Given the description of an element on the screen output the (x, y) to click on. 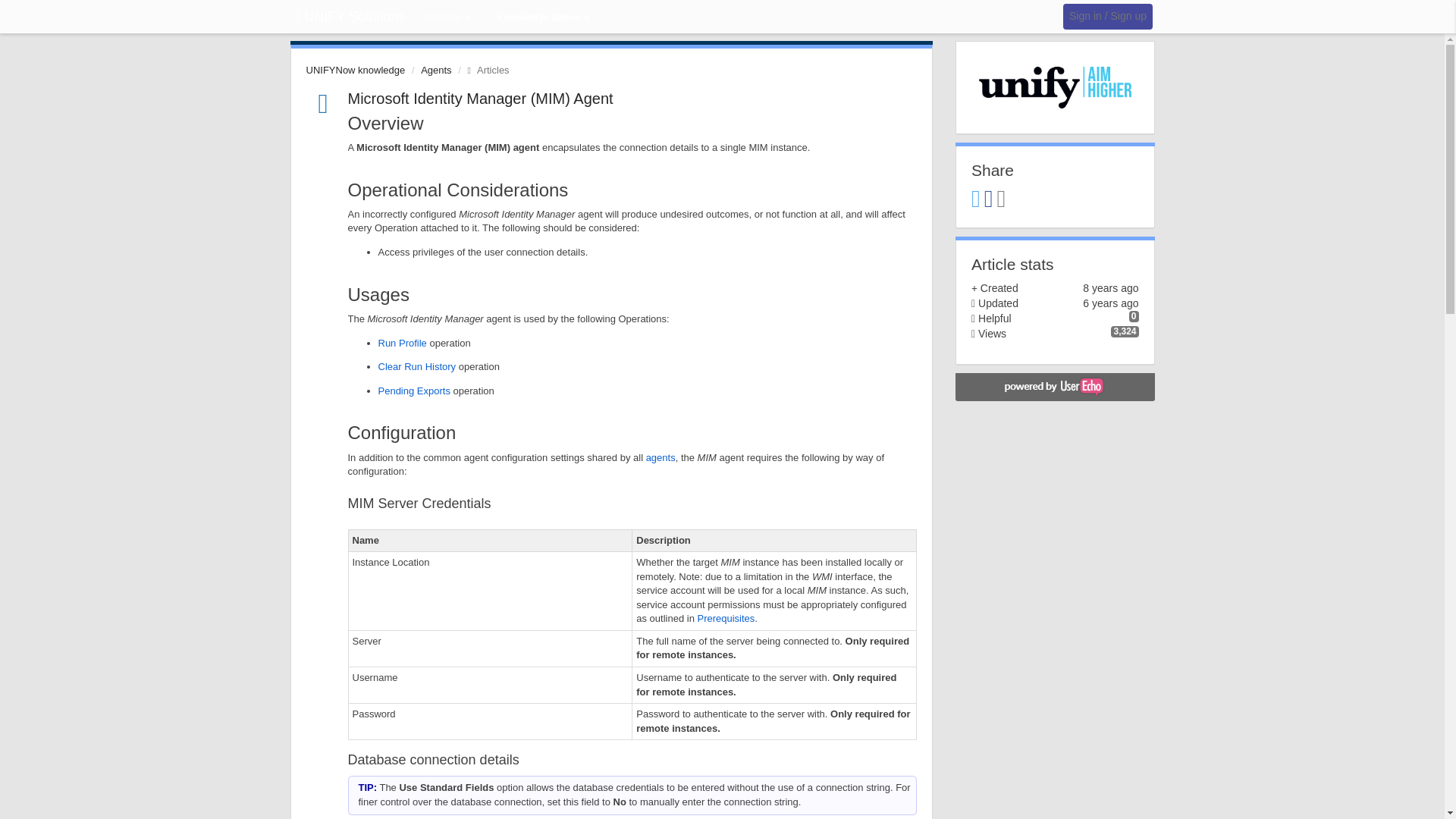
Forums (446, 17)
agents (660, 457)
UNIFY Solutions (349, 16)
News (484, 70)
Clear Run History (416, 366)
Knowledge bases (539, 17)
Pending Exports (413, 390)
Prerequisites (725, 618)
UNIFYNow knowledge (355, 70)
Run Profile (401, 342)
